Given the description of an element on the screen output the (x, y) to click on. 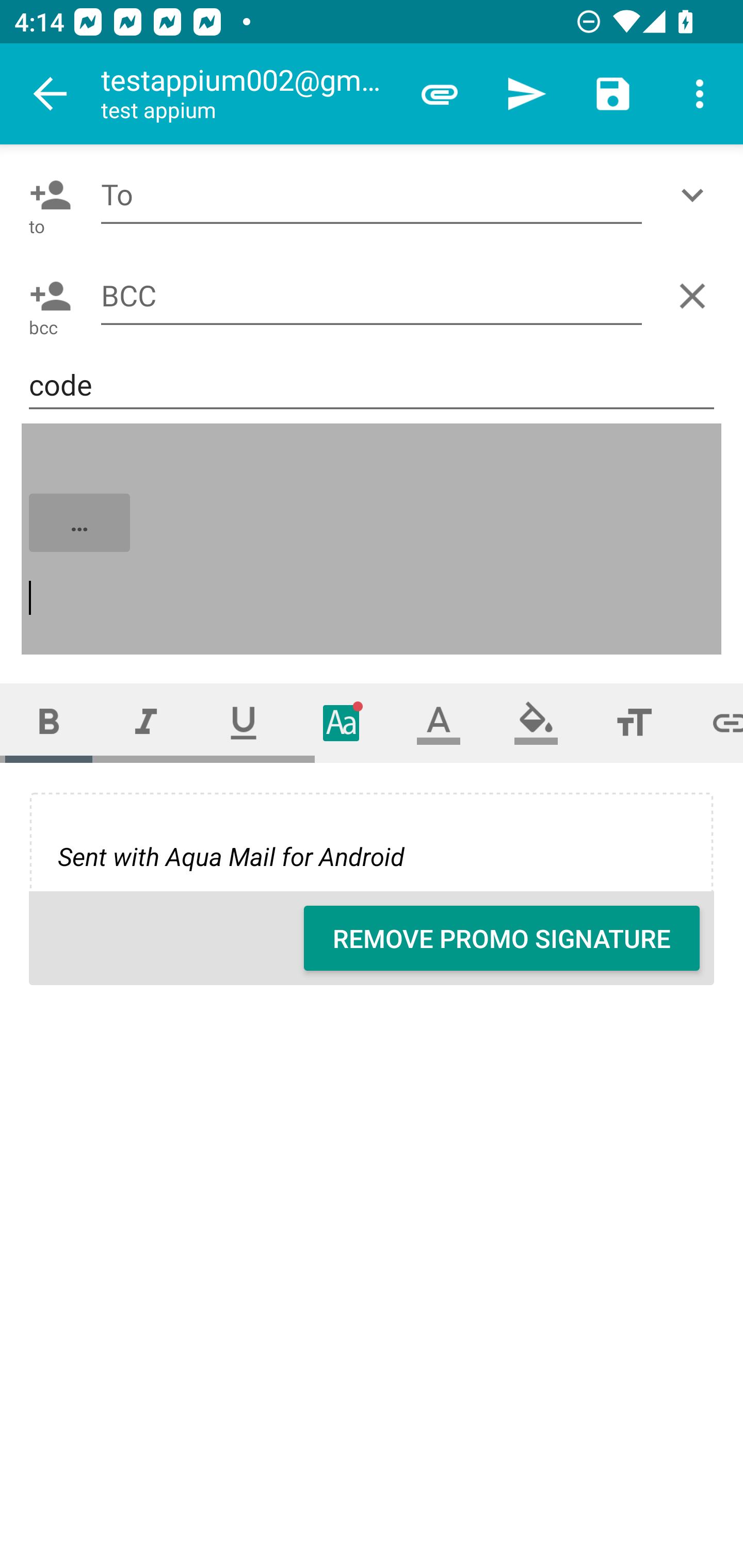
Navigate up (50, 93)
testappium002@gmail.com test appium (248, 93)
Attach (439, 93)
Send (525, 93)
Save (612, 93)
More options (699, 93)
Pick contact: To (46, 195)
Show/Add CC/BCC (696, 195)
To (371, 195)
Pick contact: BCC (46, 296)
Delete (696, 296)
BCC (371, 295)
code (371, 384)

…
 (372, 540)
Bold (48, 723)
Italic (145, 723)
Underline (243, 723)
Typeface (font) (341, 723)
Text color (438, 723)
Fill color (536, 723)
Font size (633, 723)
REMOVE PROMO SIGNATURE (501, 938)
